Given the description of an element on the screen output the (x, y) to click on. 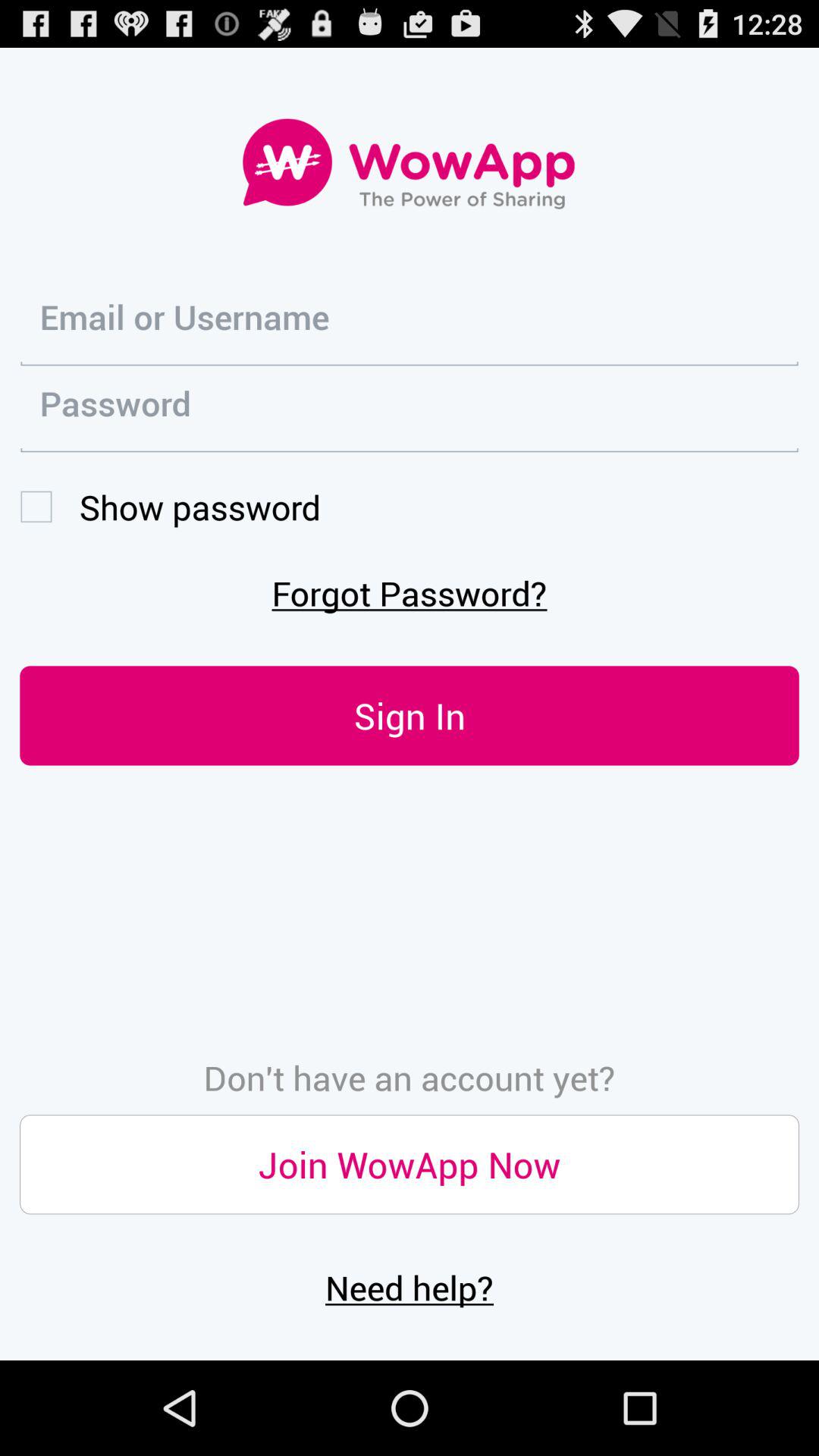
tap the item below forgot password? icon (409, 715)
